Given the description of an element on the screen output the (x, y) to click on. 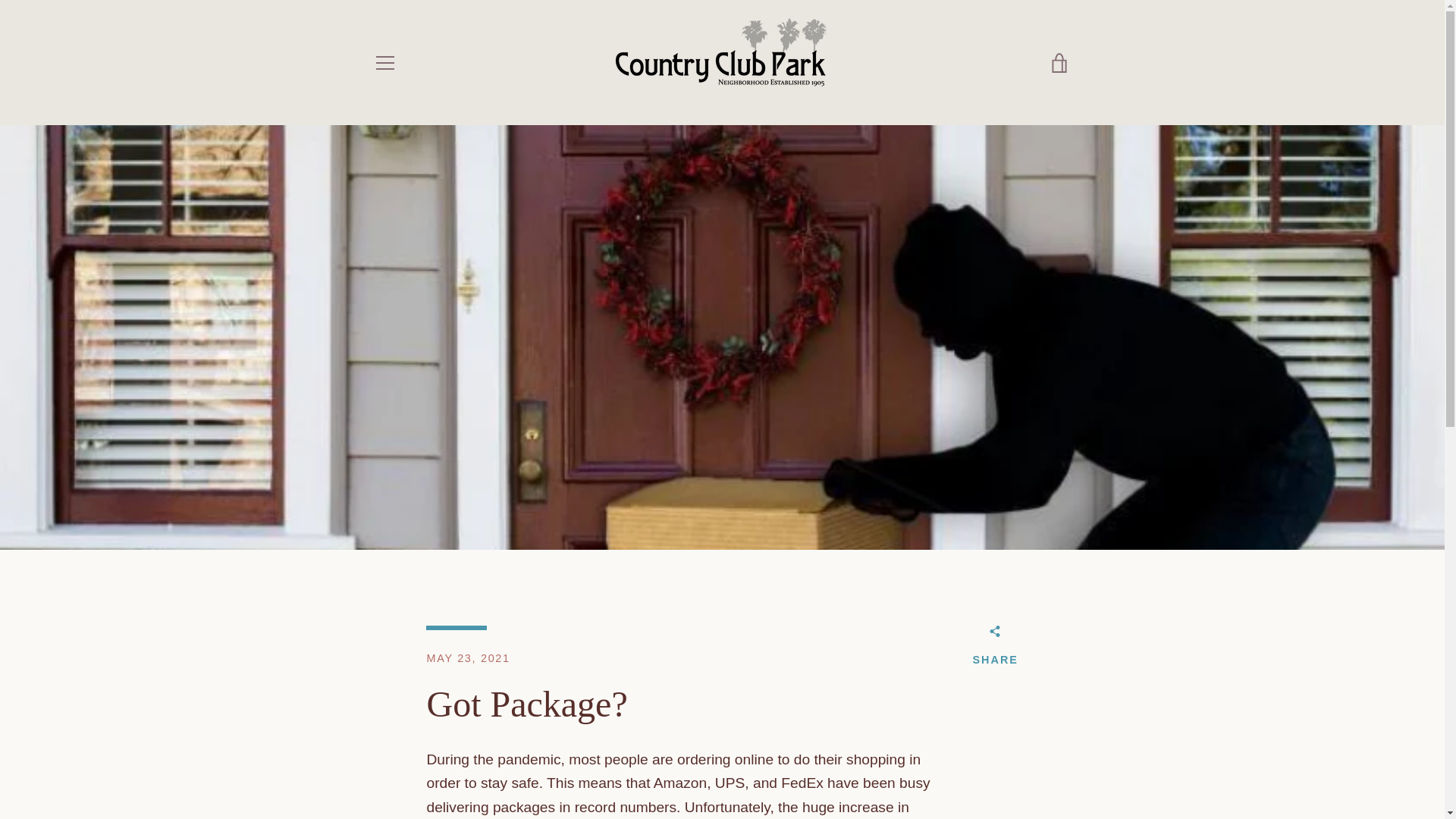
countryclubpark on Instagram (426, 764)
Venmo (1022, 778)
Google Pay (1057, 754)
VIEW CART (1059, 62)
Visa (1057, 778)
MENU (384, 62)
Shop Pay (988, 778)
SHARE (994, 648)
LOG IN TO YOUR CCPNA ACCOUNT HERE (496, 573)
Apple Pay (918, 754)
Meta Pay (1022, 754)
Diners Club (953, 754)
countryclubpark on Twitter (400, 764)
Mastercard (918, 778)
